Given the description of an element on the screen output the (x, y) to click on. 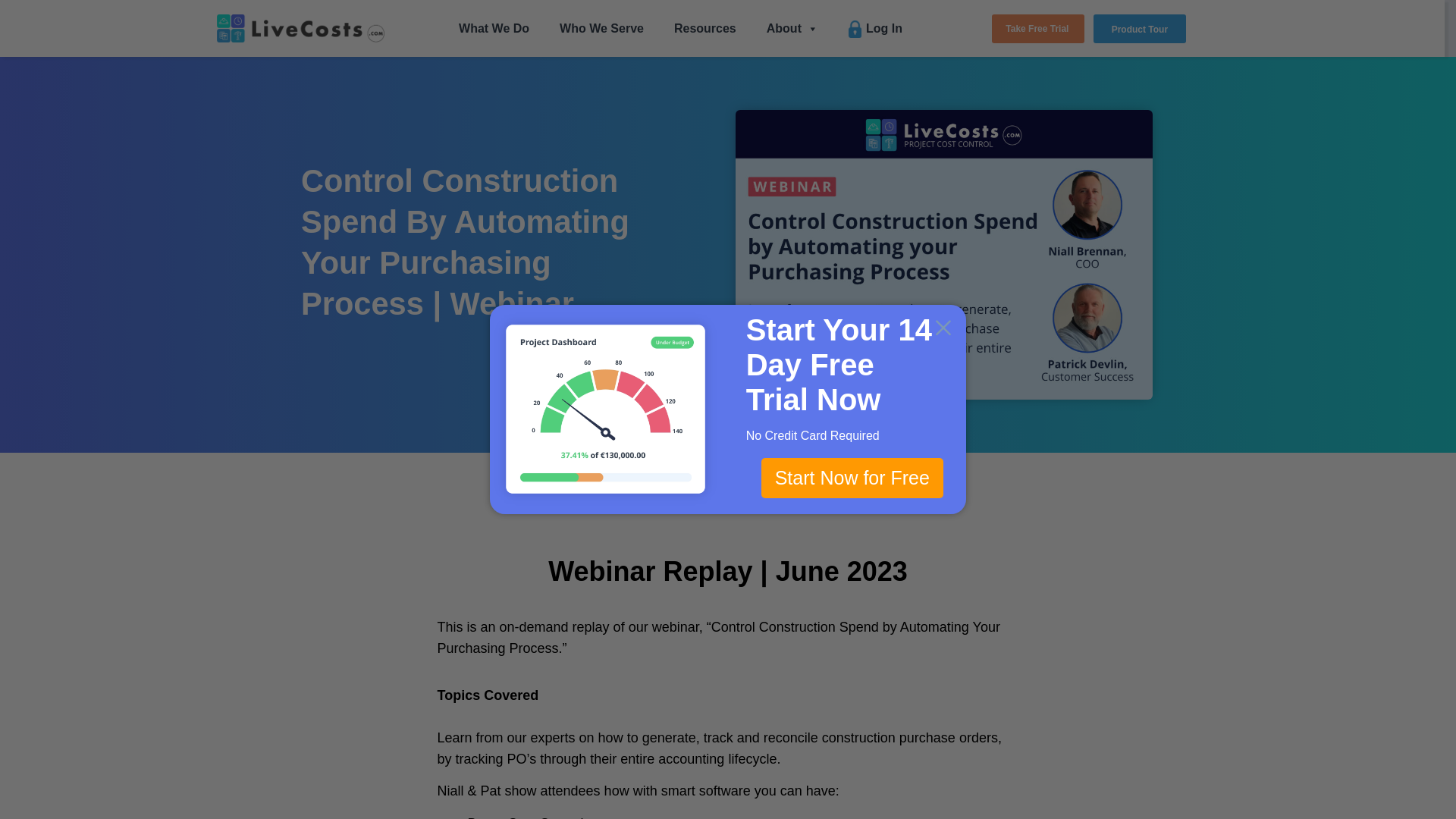
What We Do (494, 28)
Log In (875, 28)
About (791, 28)
Popup CTA (727, 409)
Who We Serve (600, 28)
Resources (705, 28)
